Given the description of an element on the screen output the (x, y) to click on. 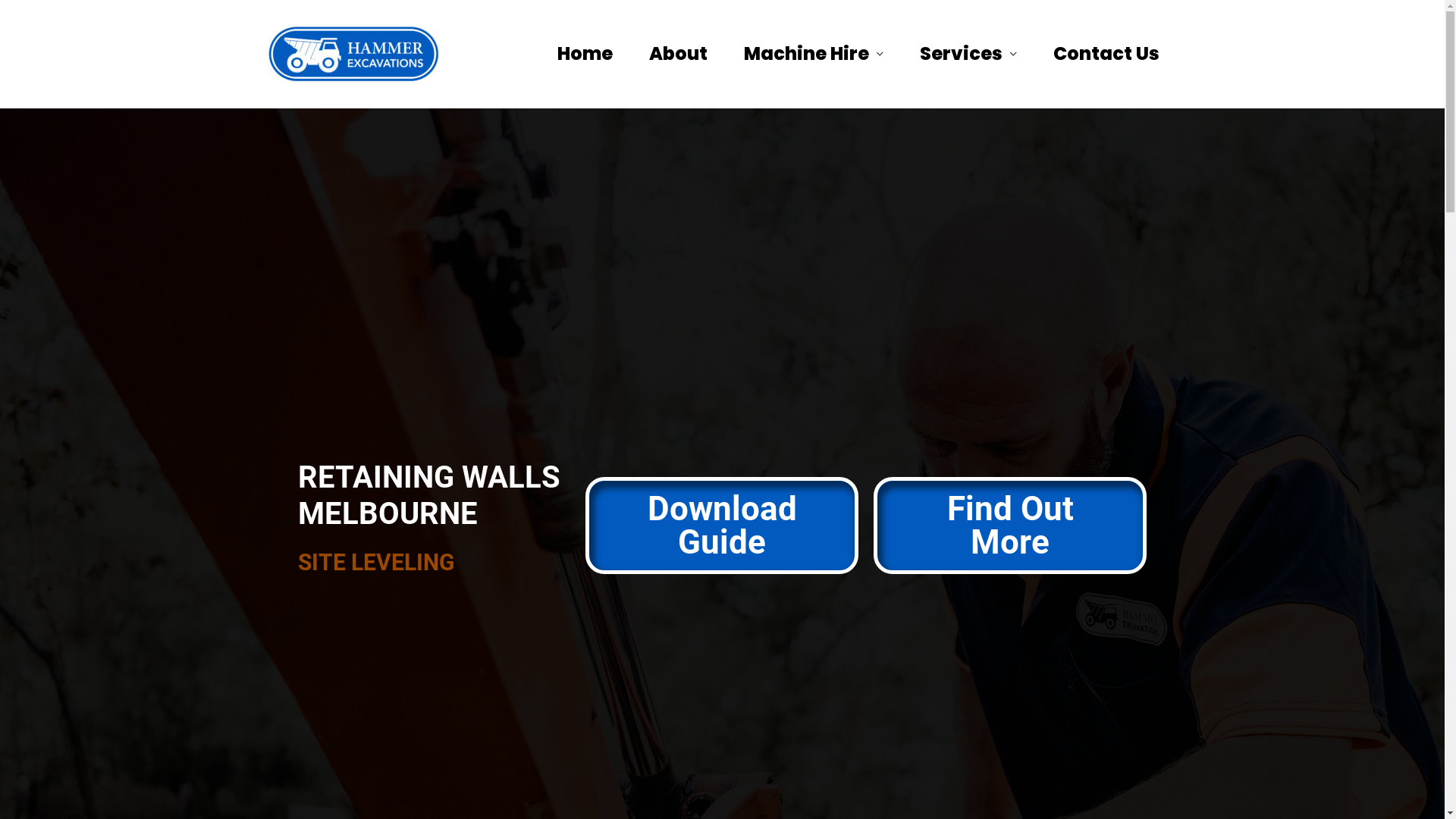
Find Out More Element type: text (1009, 525)
Machine Hire Element type: text (812, 53)
Home Element type: text (584, 53)
About Element type: text (677, 53)
Download Guide Element type: text (721, 525)
Services Element type: text (967, 53)
Contact Us Element type: text (1105, 53)
